Given the description of an element on the screen output the (x, y) to click on. 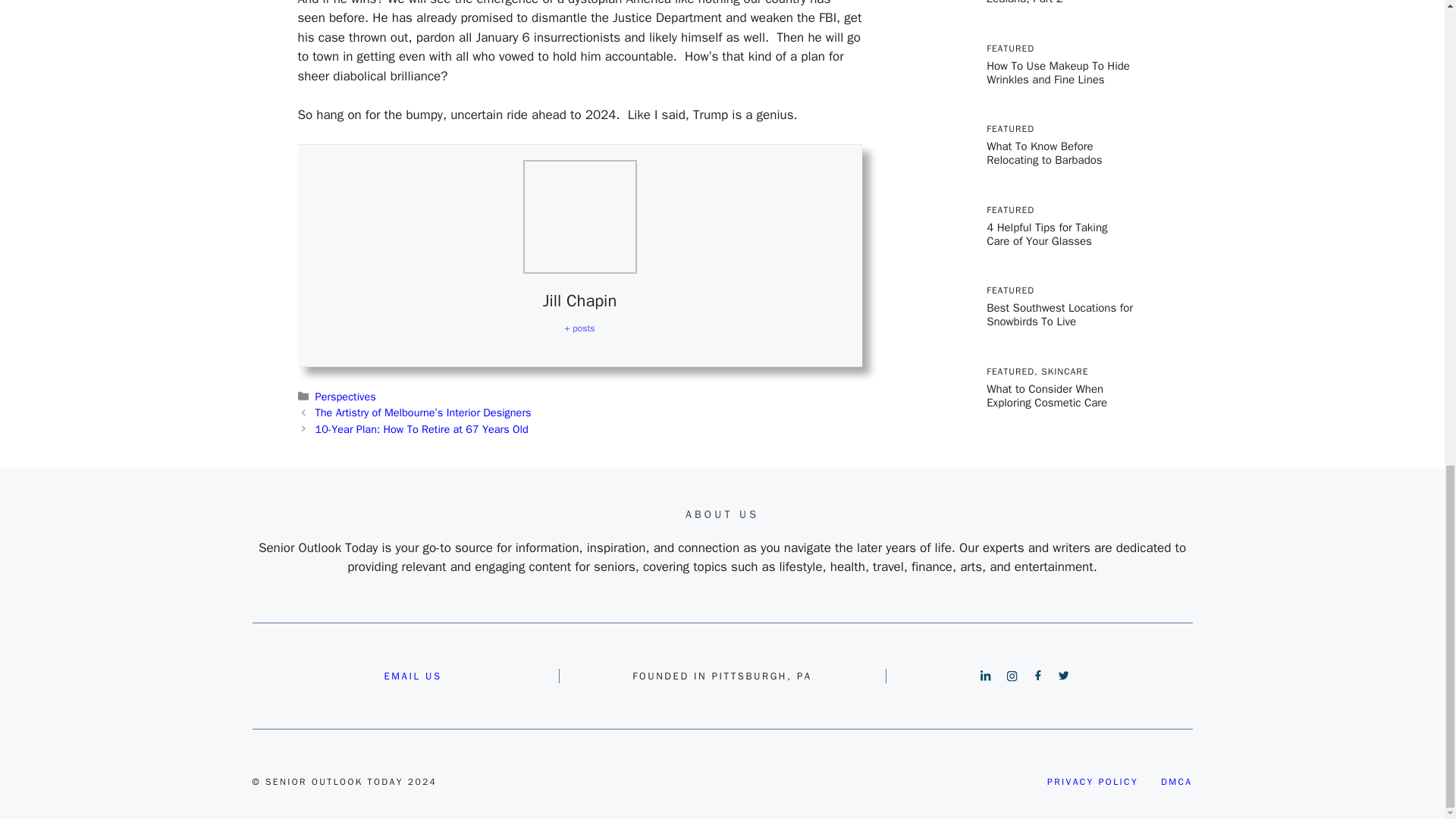
10-Year Plan: How To Retire at 67 Years Old (421, 428)
Donald Trump is a Genius 1 (579, 216)
Perspectives (345, 396)
EMAIL US (412, 675)
